Given the description of an element on the screen output the (x, y) to click on. 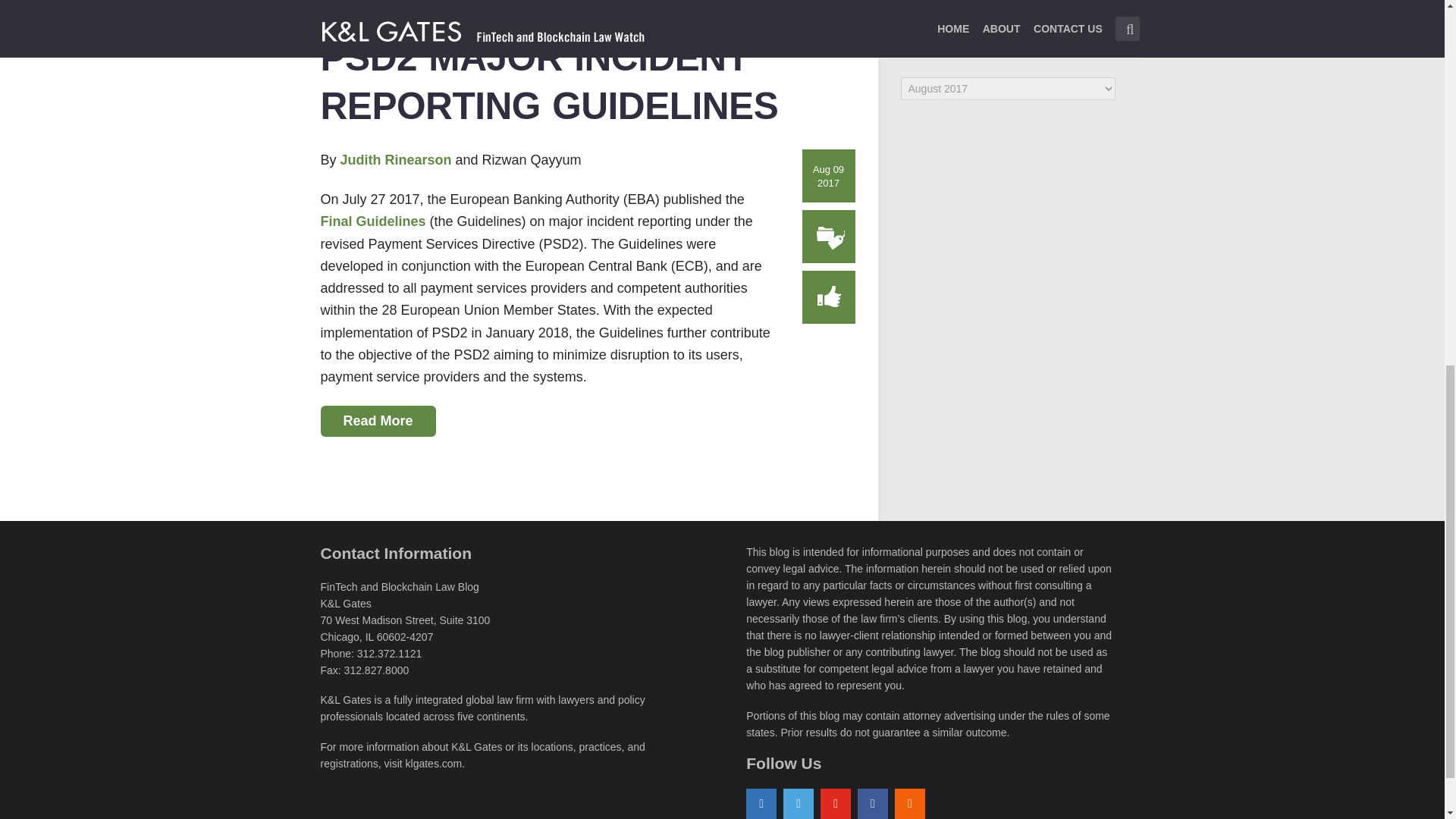
Final Guidelines (372, 221)
PSD2 major incident reporting guidelines (548, 81)
Judith Rinearson (397, 159)
PSD2 MAJOR INCIDENT REPORTING GUIDELINES (548, 81)
klgates.com (434, 763)
Read More (377, 421)
